Given the description of an element on the screen output the (x, y) to click on. 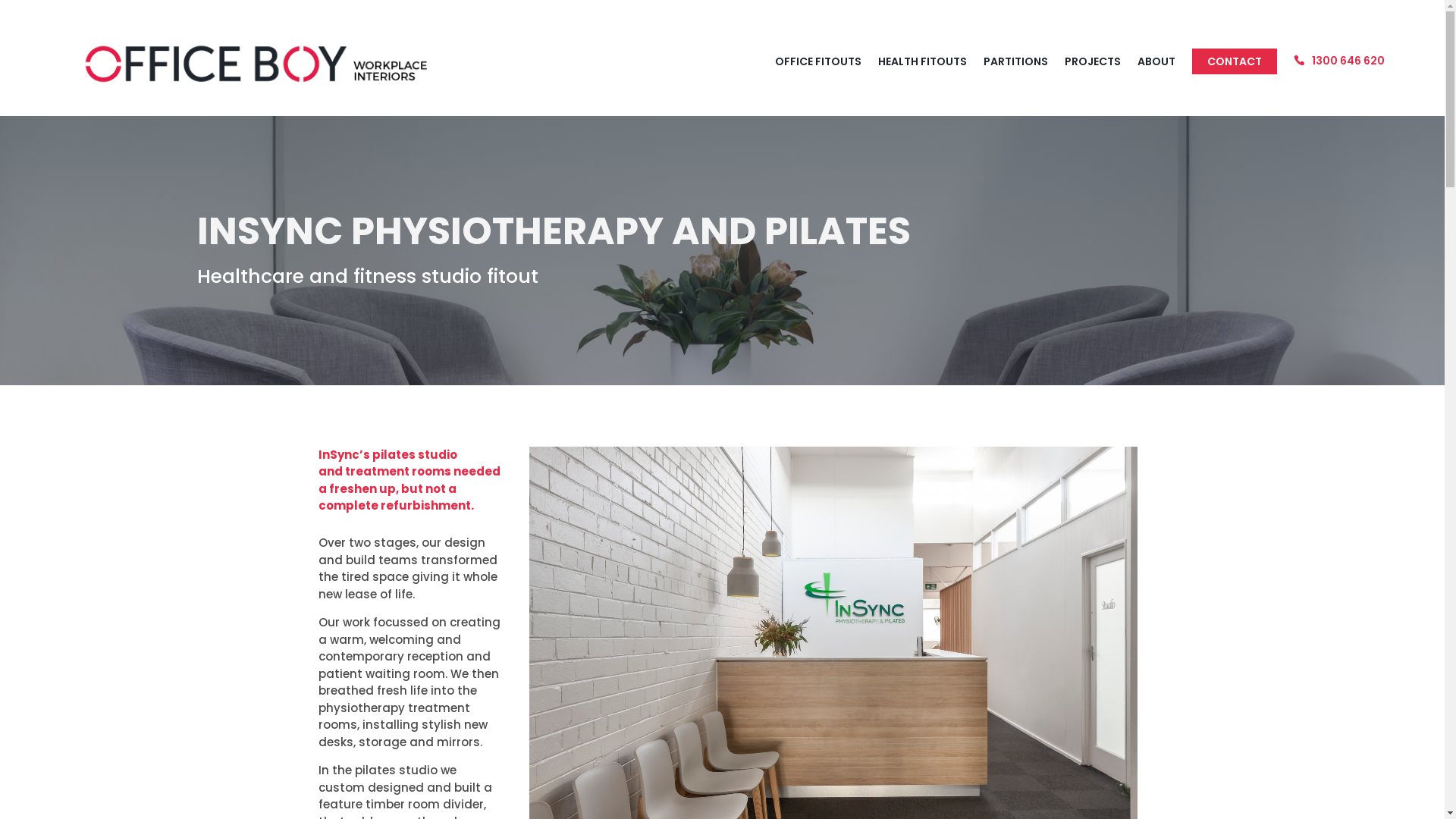
PARTITIONS Element type: text (1015, 61)
OFFICE FITOUTS Element type: text (818, 61)
1300 646 620 Element type: text (1338, 60)
HEALTH FITOUTS Element type: text (922, 61)
PROJECTS Element type: text (1092, 61)
CONTACT Element type: text (1234, 61)
ABOUT Element type: text (1156, 61)
